Given the description of an element on the screen output the (x, y) to click on. 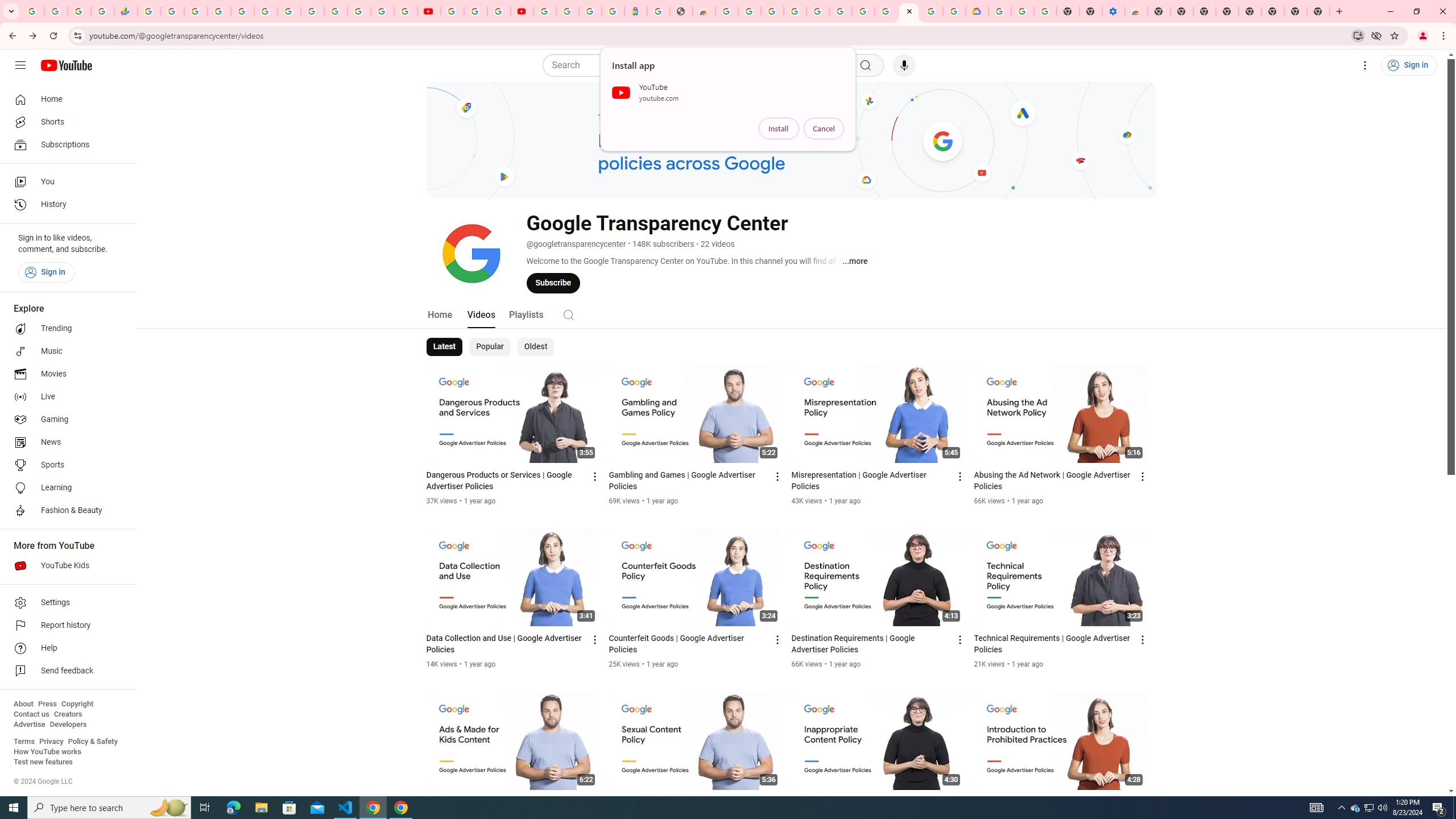
Sign in - Google Accounts (817, 11)
Send feedback (64, 671)
Playlists (525, 314)
Sign in - Google Accounts (218, 11)
Sign in - Google Accounts (999, 11)
Sign in - Google Accounts (545, 11)
Movies (64, 373)
Live (64, 396)
